Given the description of an element on the screen output the (x, y) to click on. 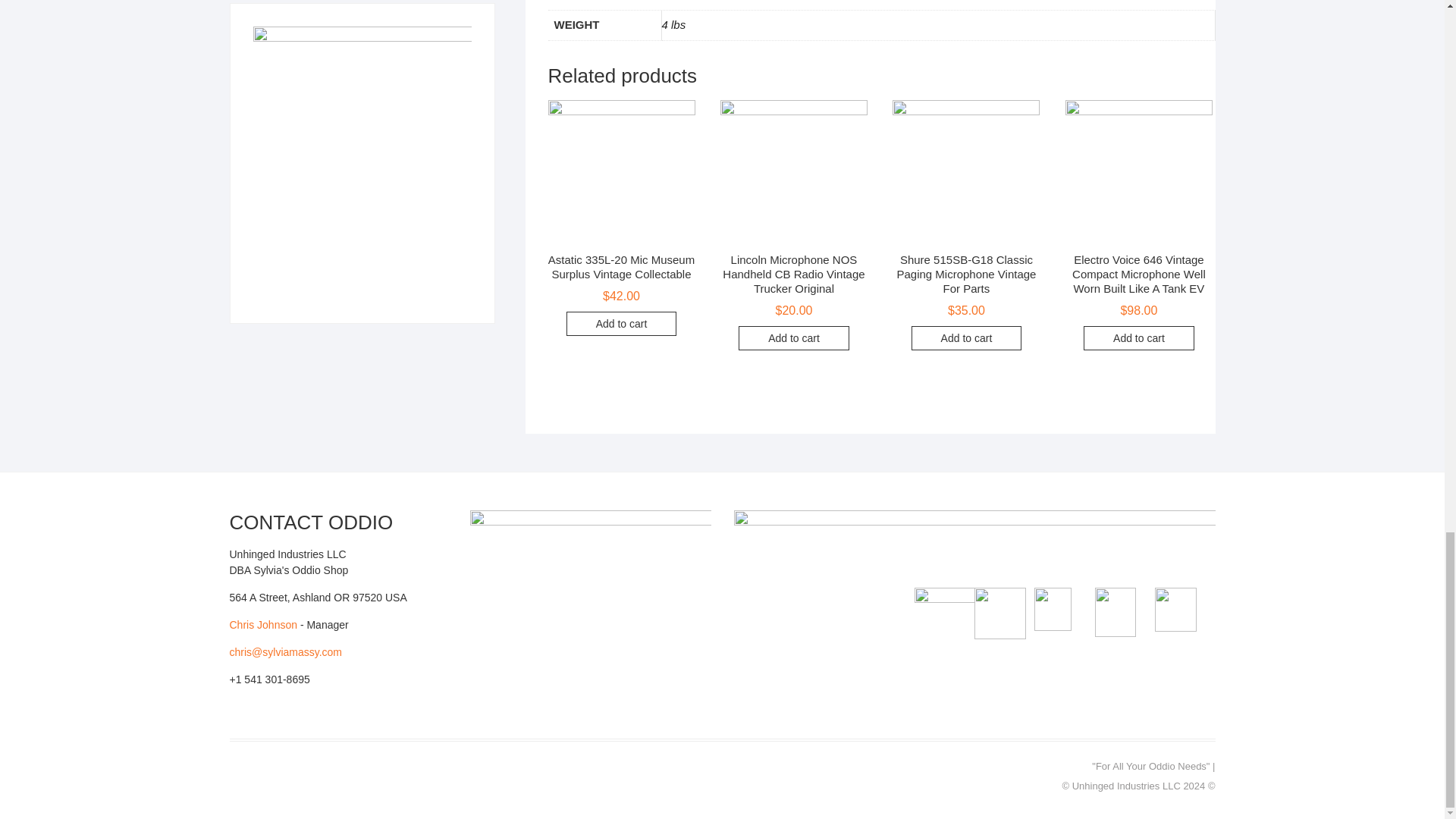
"For All Your Oddio Needs" (1150, 766)
